Given the description of an element on the screen output the (x, y) to click on. 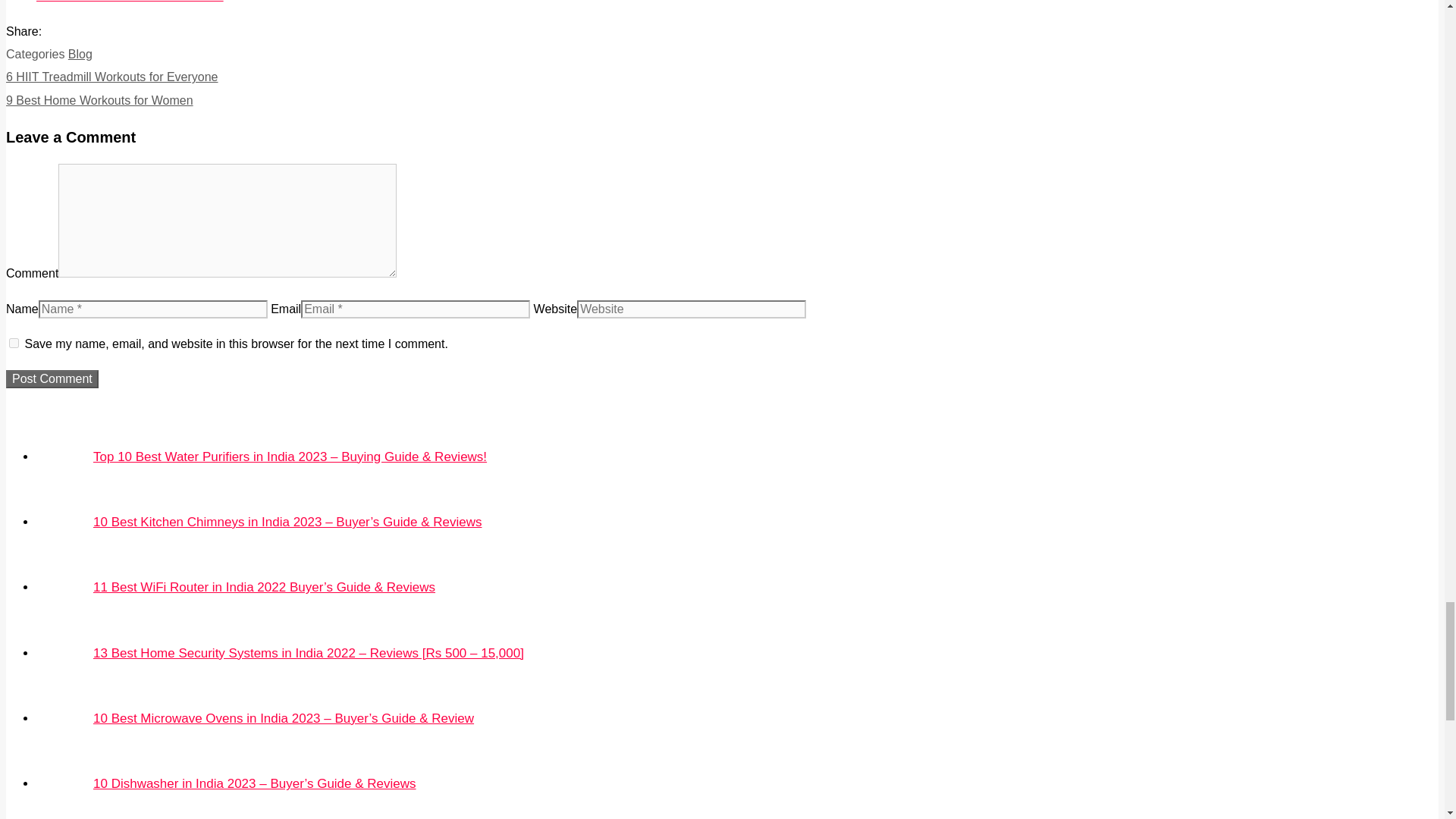
Post Comment (52, 379)
9 Best Home Workouts for Women (130, 1)
9 Best Home Workouts for Women (99, 100)
Post Comment (52, 379)
6 HIIT Treadmill Workouts for Everyone (111, 76)
Blog (80, 53)
yes (13, 343)
